Given the description of an element on the screen output the (x, y) to click on. 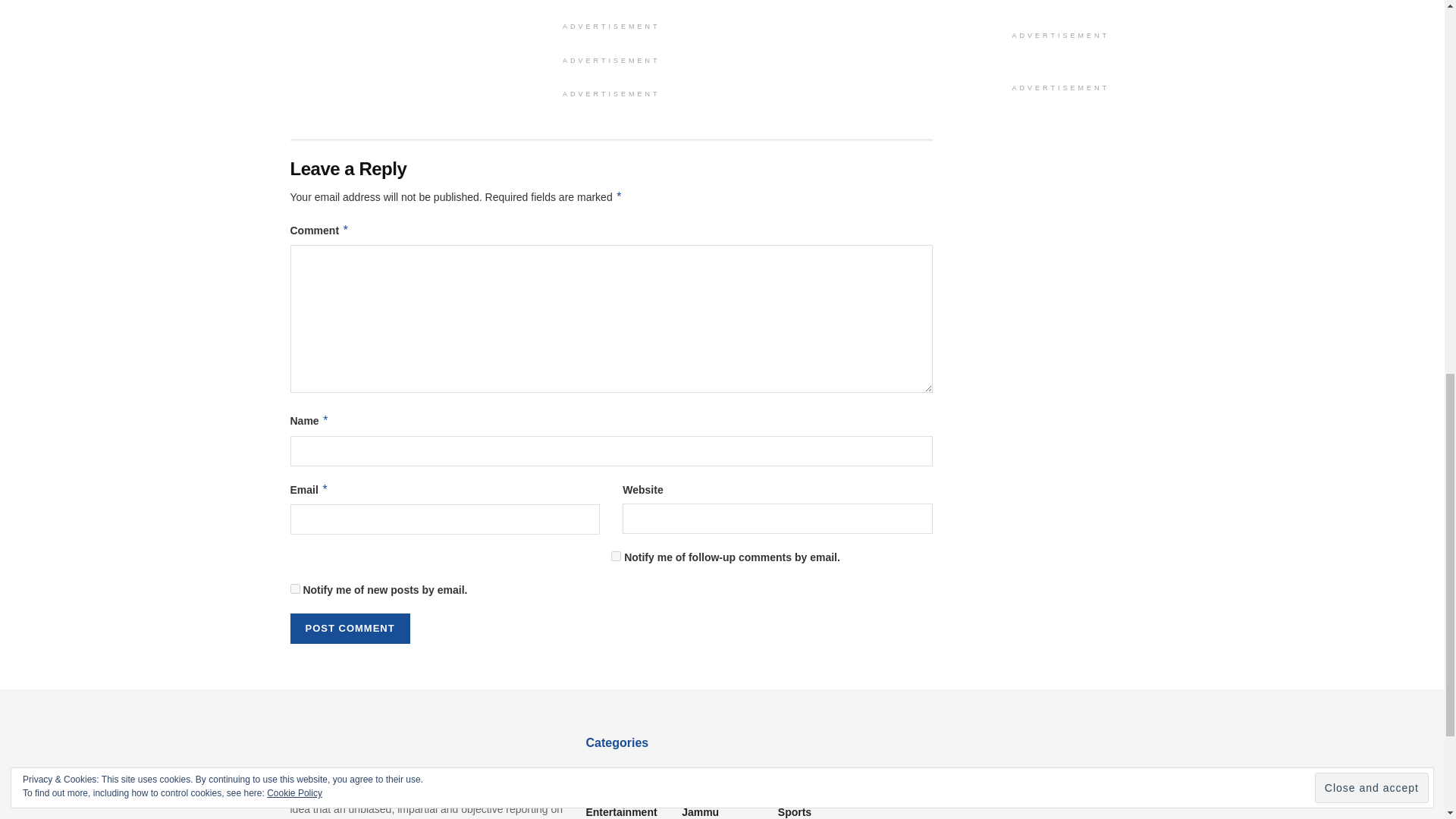
subscribe (294, 588)
subscribe (616, 556)
Advertisement (1060, 11)
Post Comment (349, 628)
